Given the description of an element on the screen output the (x, y) to click on. 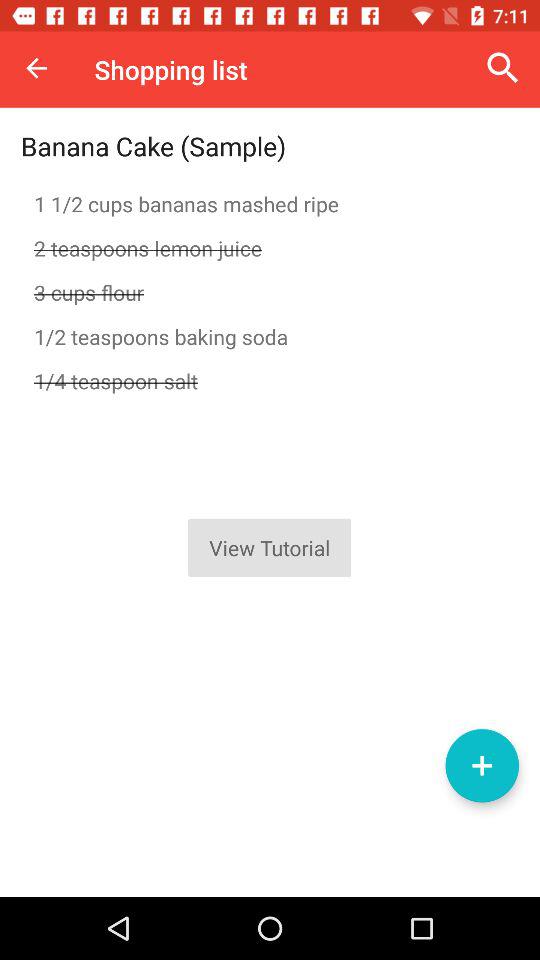
press the 3 cups flour icon (270, 292)
